Given the description of an element on the screen output the (x, y) to click on. 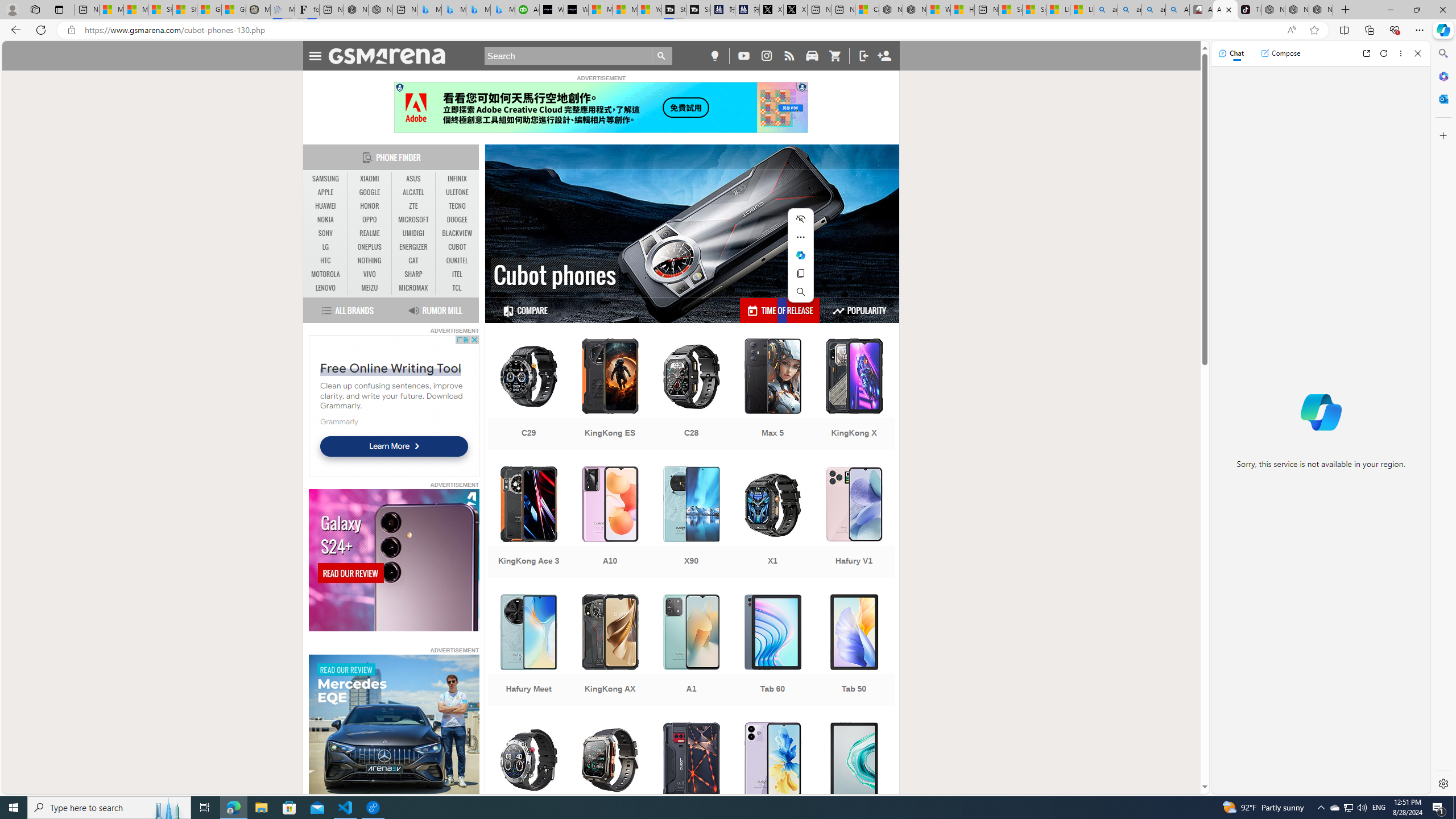
Microsoft Bing Travel - Shangri-La Hotel Bangkok (502, 9)
APPLE (325, 192)
Hafury Meet (528, 651)
UMIDIGI (413, 233)
Grammarly (339, 421)
KingKong Ace 3 (528, 523)
KingKong AX (609, 651)
Click Here (601, 106)
